Given the description of an element on the screen output the (x, y) to click on. 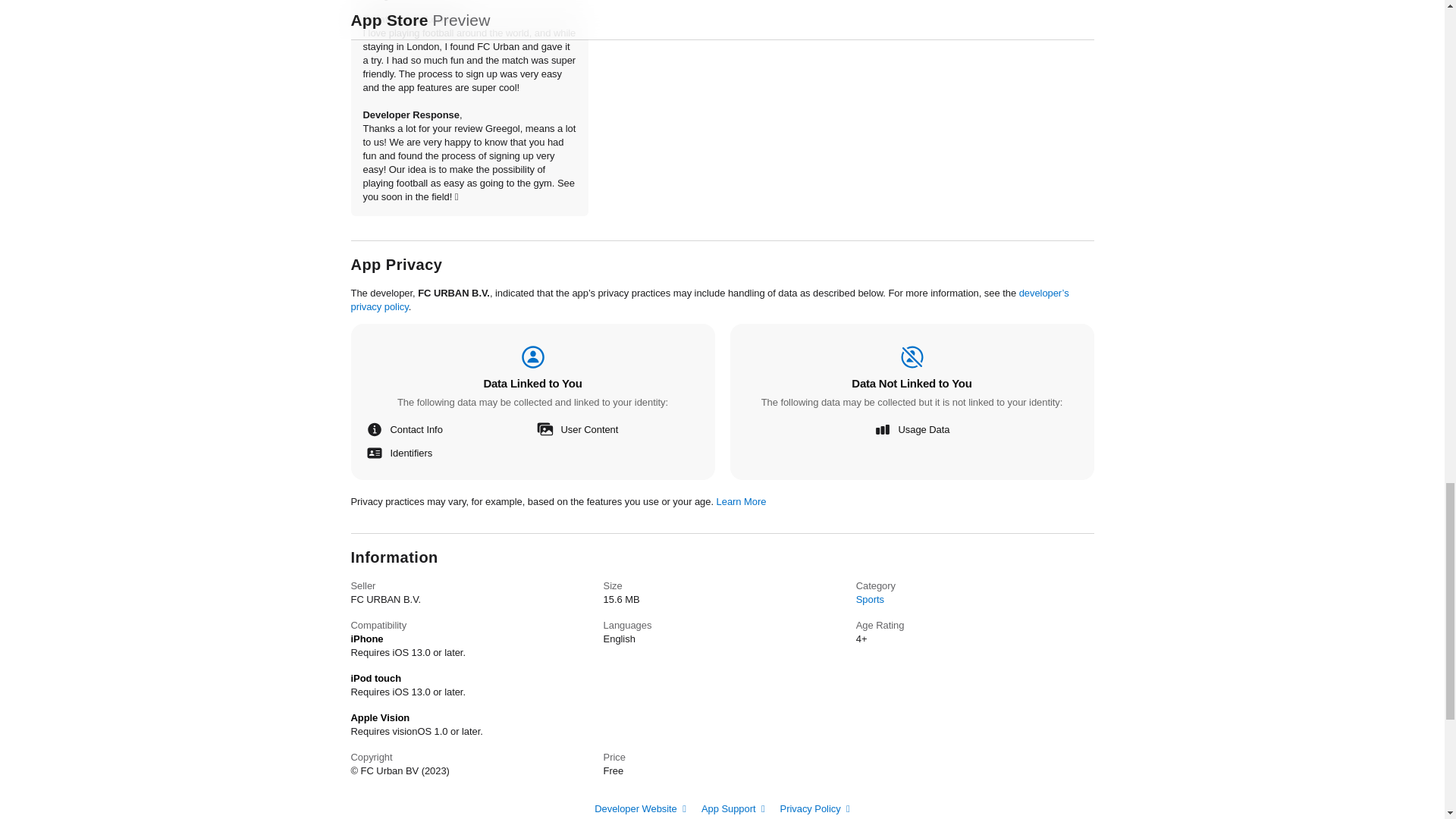
Sports (869, 598)
Learn More (741, 501)
App Support (733, 808)
Developer Website (639, 808)
Privacy Policy (815, 808)
